Given the description of an element on the screen output the (x, y) to click on. 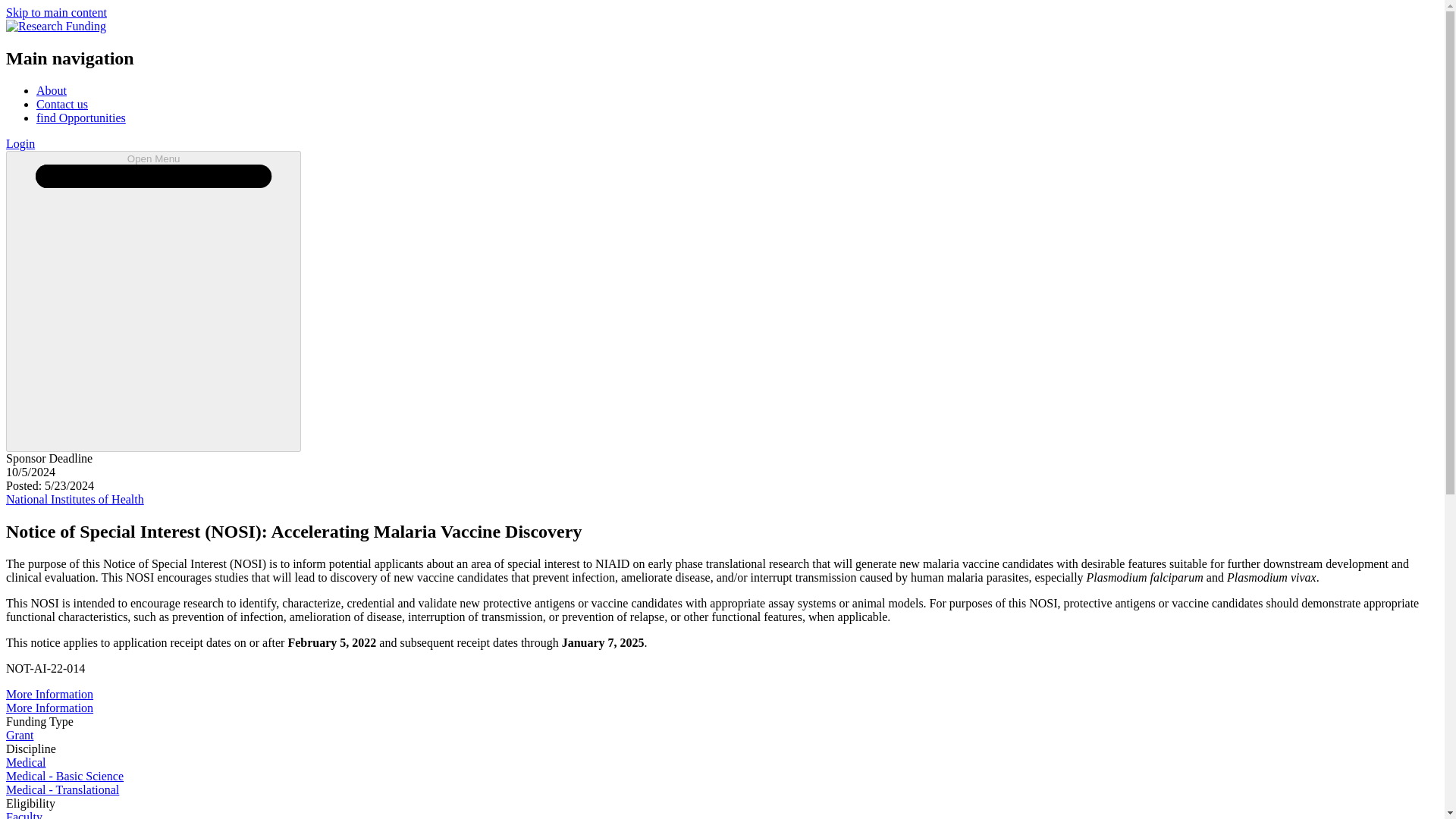
find Opportunities (80, 117)
Login (19, 143)
National Institutes of Health (74, 499)
More Information (49, 694)
About (51, 90)
Faculty (23, 814)
Grant (19, 735)
Medical (25, 762)
Medical - Translational (62, 789)
Open Menu (153, 301)
More Information (49, 707)
Medical - Basic Science (64, 775)
Contact us (61, 103)
Skip to main content (55, 11)
